Given the description of an element on the screen output the (x, y) to click on. 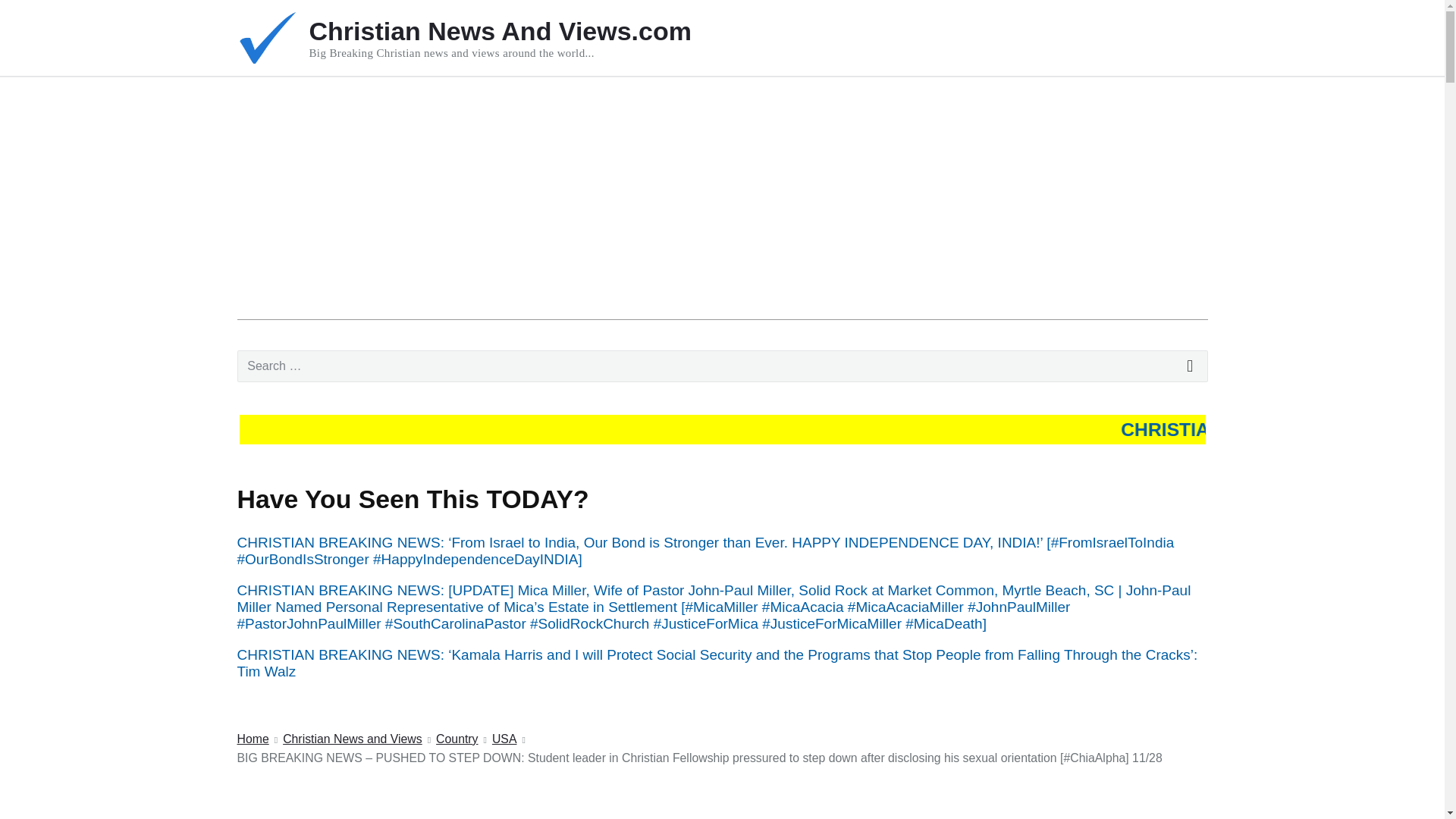
Search for: (721, 366)
Country (456, 739)
Home (251, 739)
Christian News and Views (352, 739)
SEARCH (1190, 366)
USA (504, 739)
